Given the description of an element on the screen output the (x, y) to click on. 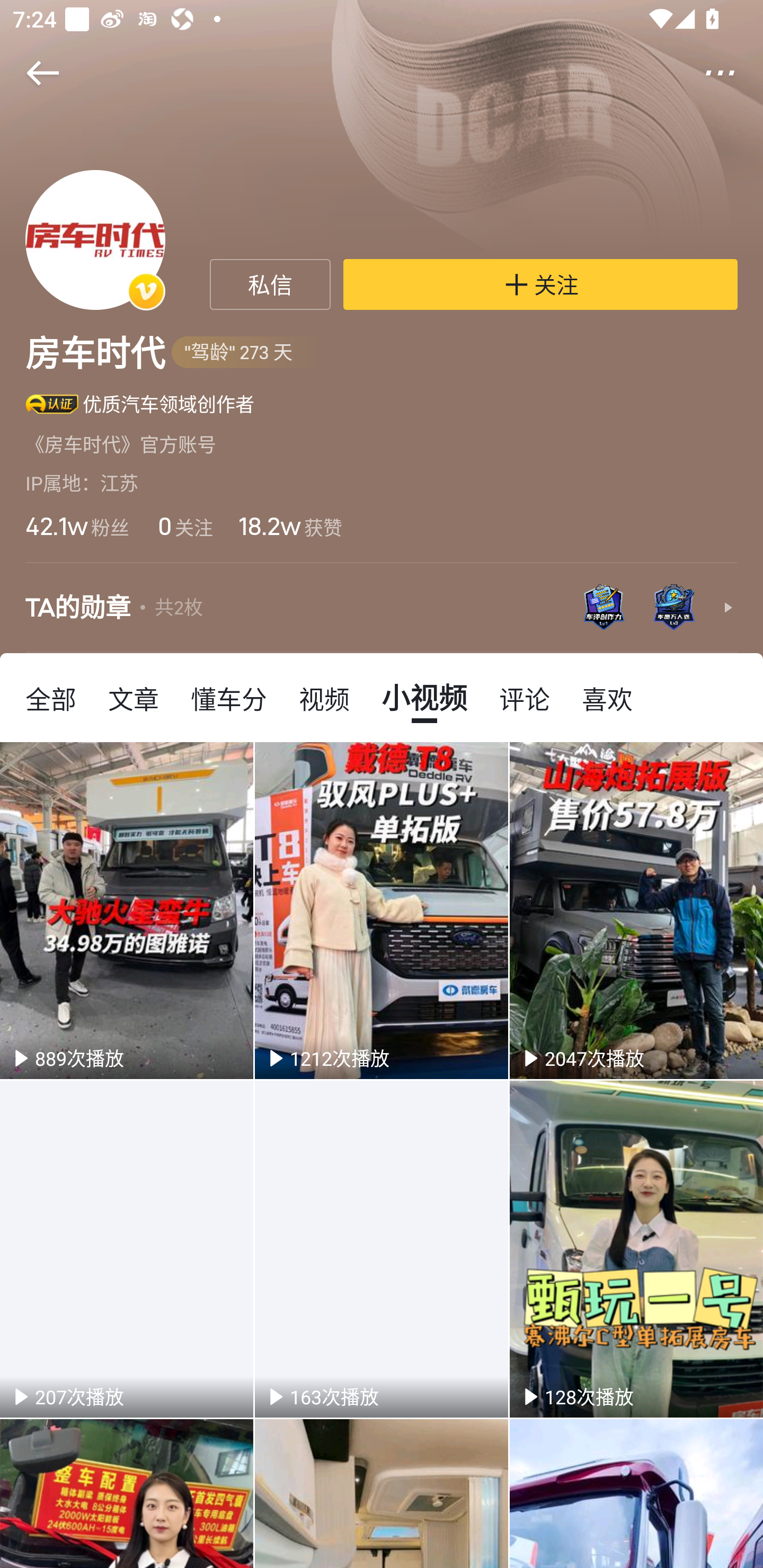
 (30, 72)
 (732, 72)
私信 (269, 284)
 关注 (540, 284)
"驾龄" 273 天 (248, 352)
42.1w 粉丝 (76, 526)
0 关注 (183, 526)
18.2w 获赞 (290, 526)
TA的勋章 共2枚  (381, 607)
全部 (50, 697)
文章 (133, 697)
懂车分 (228, 697)
视频 (324, 697)
小视频 (423, 697)
评论 (524, 697)
喜欢 (606, 697)
 889次播放 (126, 909)
 1212次播放 (381, 909)
 2047次播放 (636, 909)
 207次播放 (126, 1248)
 163次播放 (381, 1248)
 128次播放 (636, 1248)
